Given the description of an element on the screen output the (x, y) to click on. 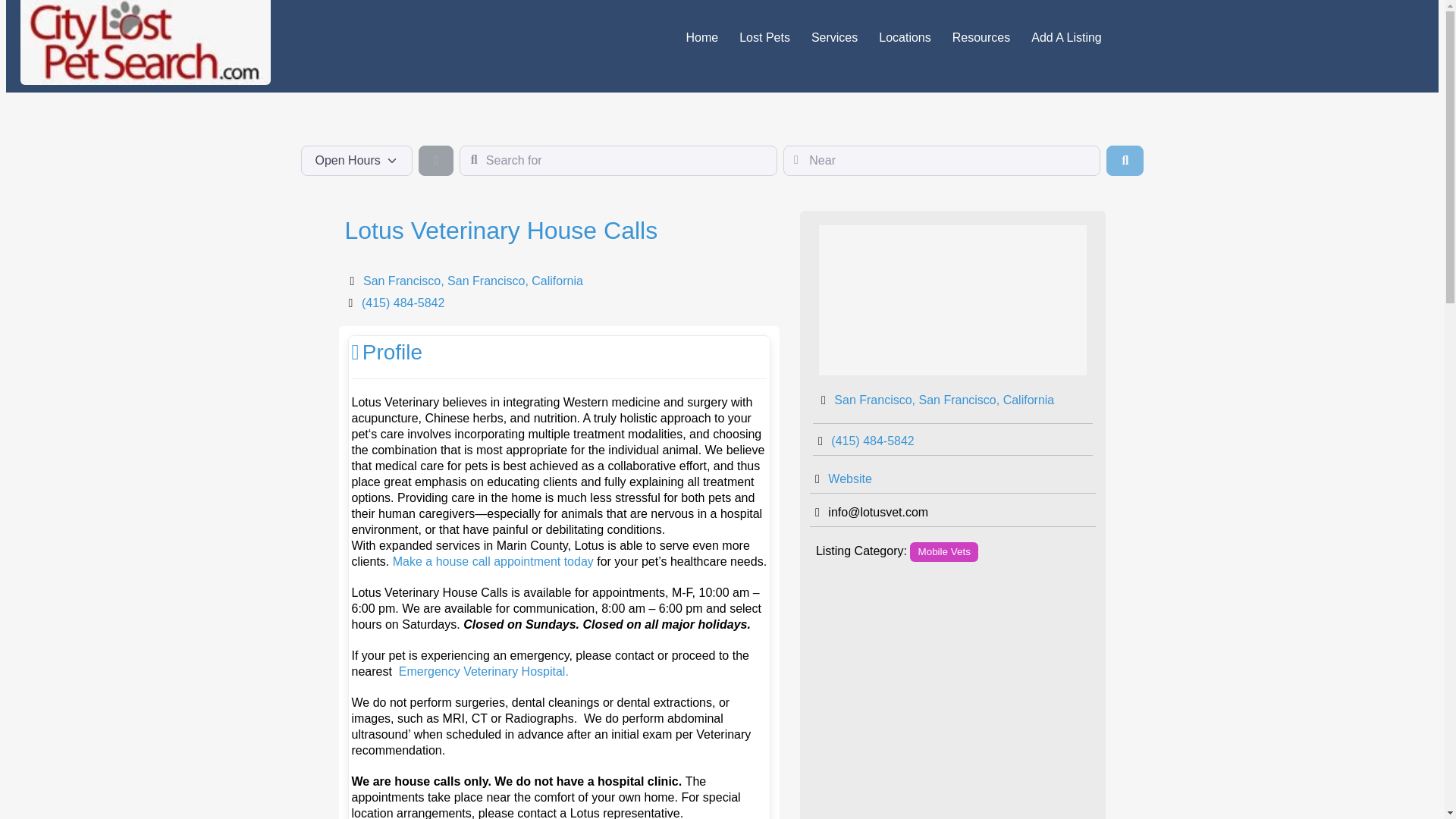
View on map (472, 280)
Resources (981, 37)
Add A Listing (1066, 37)
Locations (905, 37)
Services (833, 37)
Home (701, 37)
Search By Distance (435, 160)
Lost Pets (764, 37)
View: Lotus Veterinary House Calls (500, 230)
